Given the description of an element on the screen output the (x, y) to click on. 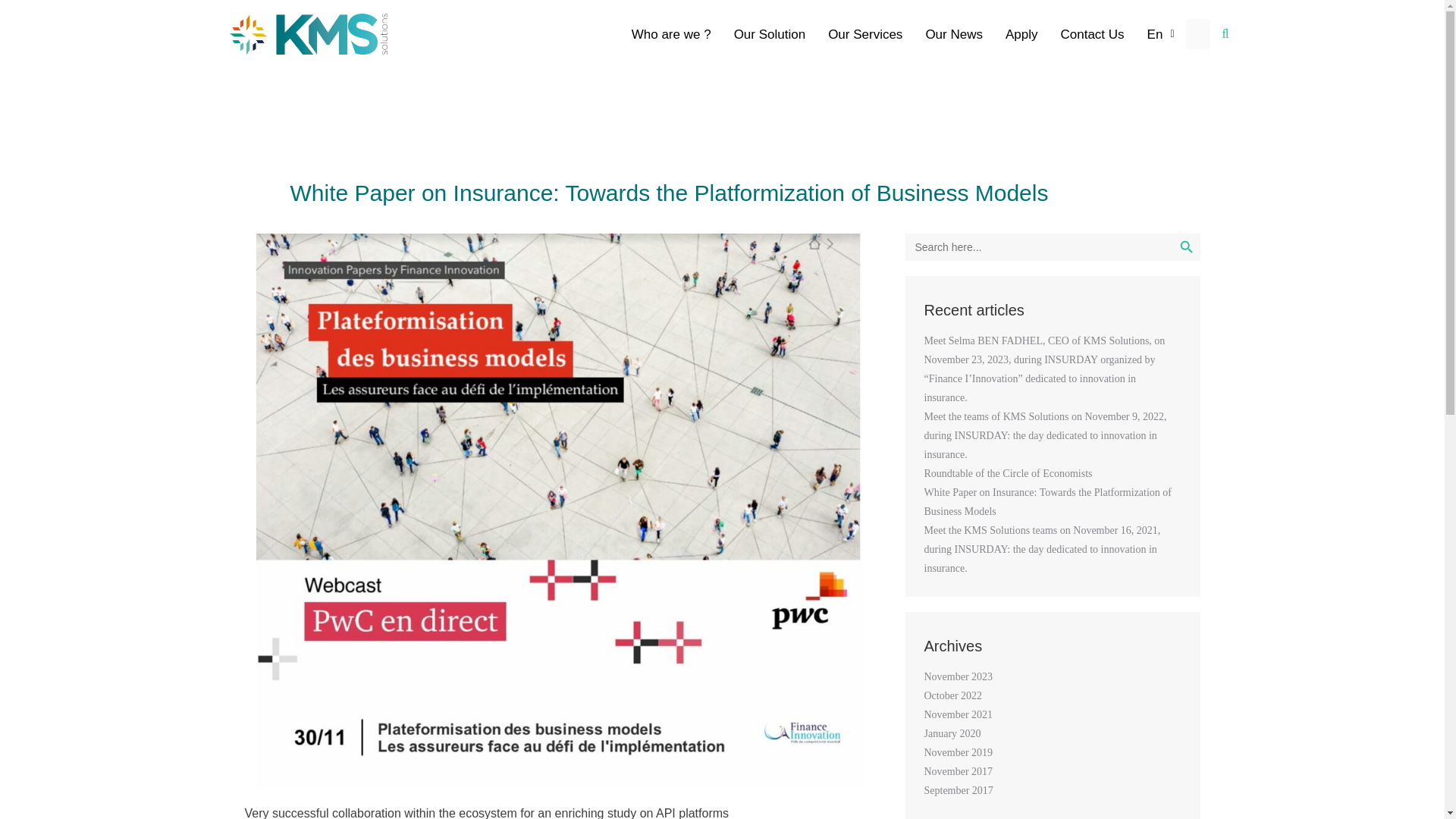
Contact Us (1091, 34)
Who are we ? (671, 34)
November 2021 (957, 714)
September 2017 (957, 790)
En (1160, 34)
November 2019 (957, 752)
Apply (1021, 34)
November 2023 (957, 676)
Roundtable of the Circle of Economists (1007, 473)
October 2022 (952, 695)
Search Button (1185, 247)
November 2017 (957, 771)
Our Solution (769, 34)
